Given the description of an element on the screen output the (x, y) to click on. 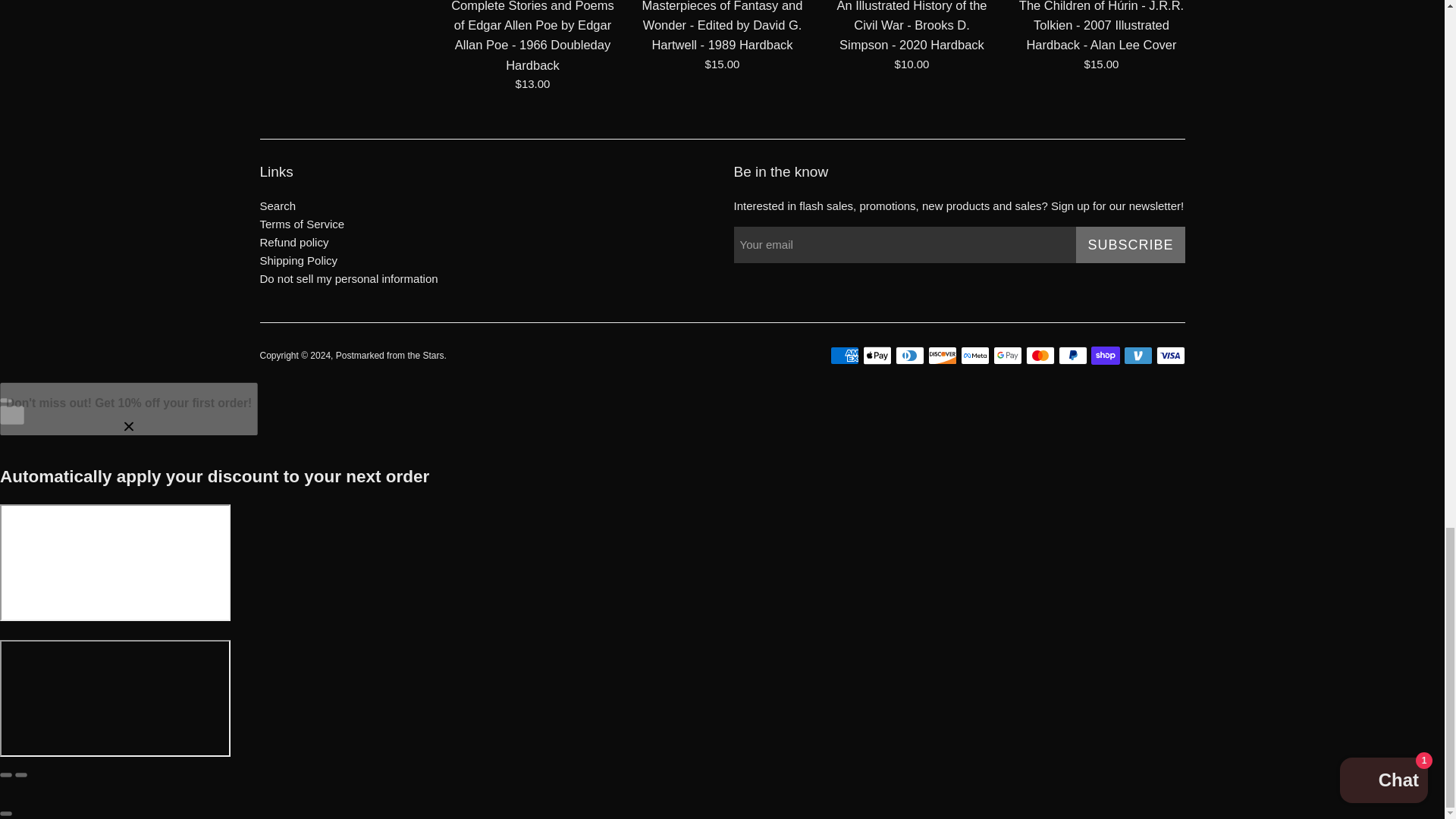
Venmo (1138, 355)
Diners Club (909, 355)
Meta Pay (973, 355)
PayPal (1072, 355)
American Express (844, 355)
Shop Pay (1104, 355)
Google Pay (1007, 355)
Mastercard (1039, 355)
Apple Pay (877, 355)
Discover (942, 355)
Visa (1170, 355)
